Given the description of an element on the screen output the (x, y) to click on. 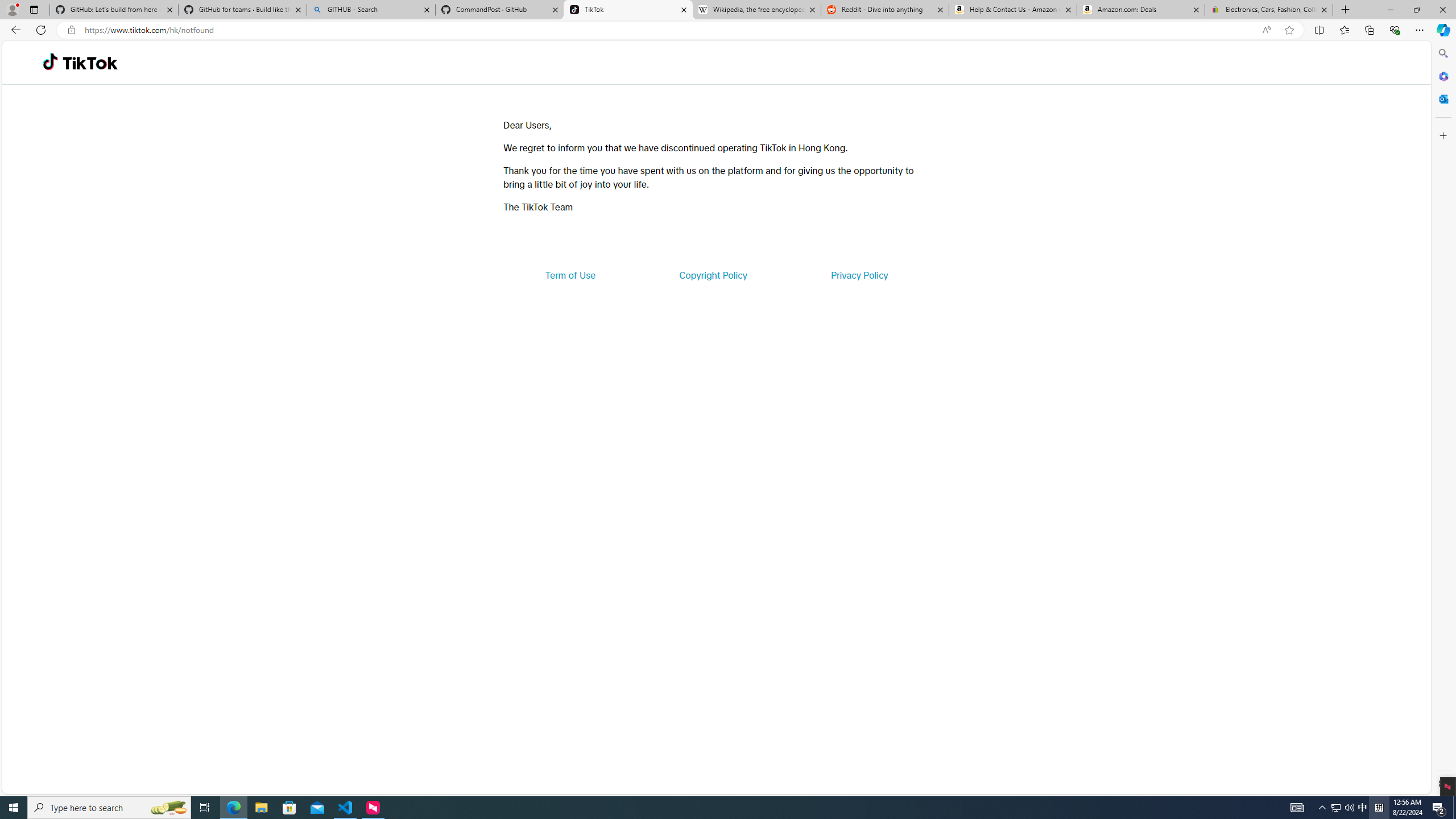
TikTok (628, 9)
TikTok (89, 62)
Customize (1442, 135)
